Given the description of an element on the screen output the (x, y) to click on. 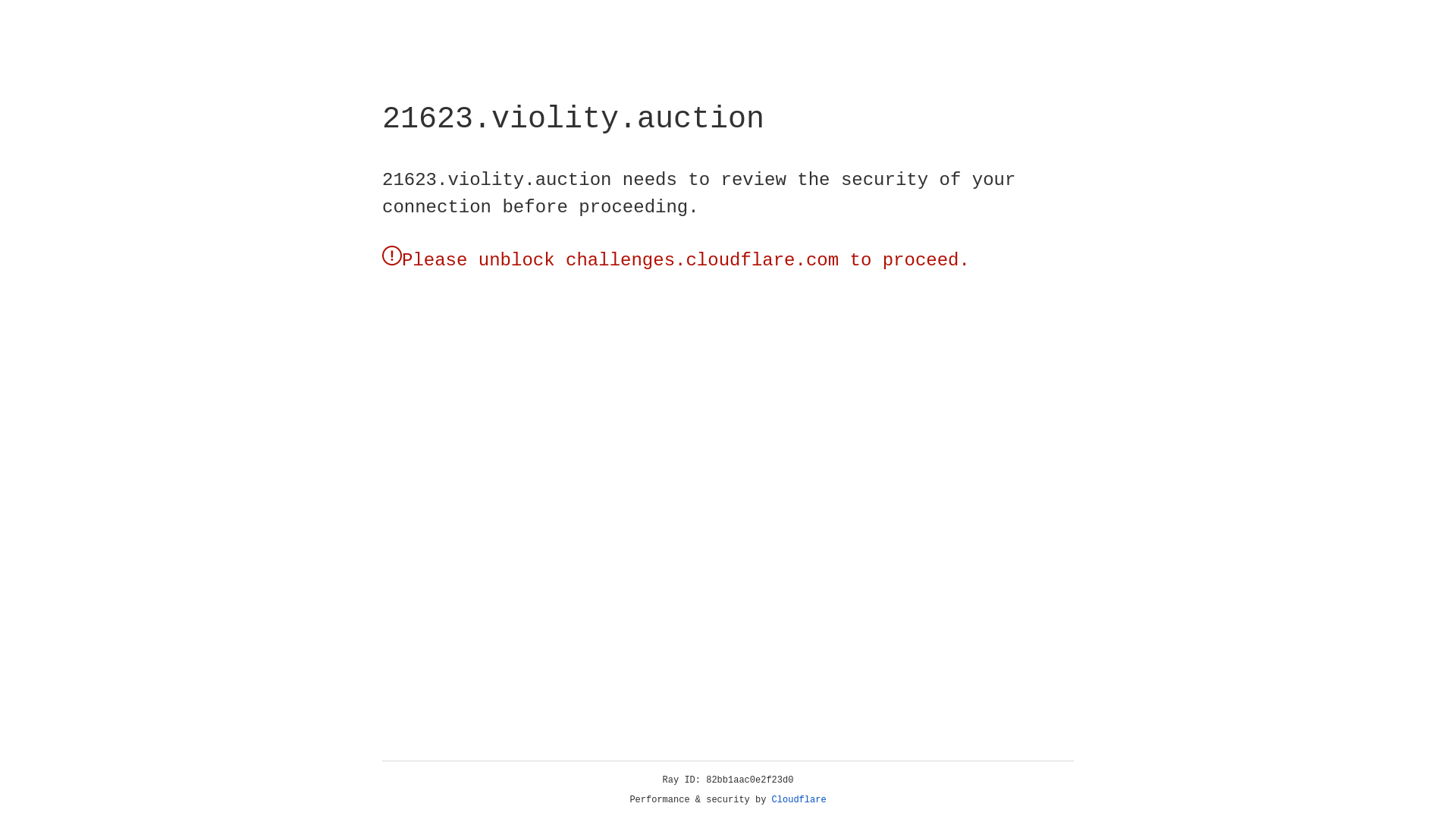
Cloudflare Element type: text (798, 799)
